Given the description of an element on the screen output the (x, y) to click on. 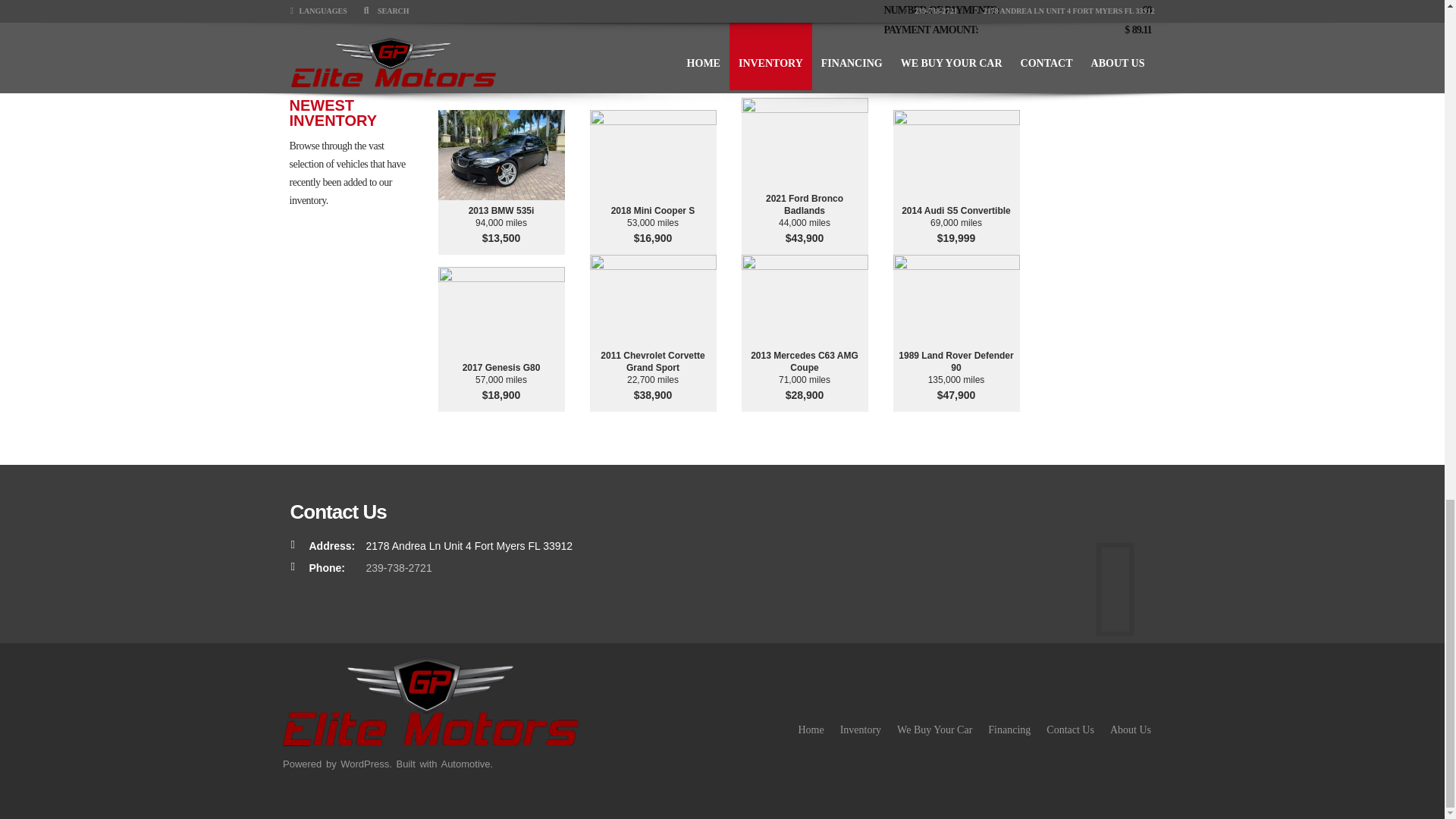
2013 Mercedes C63 AMG Coupe (803, 361)
2017 Genesis G80 (500, 367)
44,000 miles (803, 223)
2011 Chevrolet Corvette Grand Sport (651, 361)
135,000 miles (955, 379)
1989 Land Rover Defender 90 (955, 361)
71,000 miles (803, 379)
2021 Ford Bronco Badlands (803, 204)
NEWEST INVENTORY (358, 112)
94,000 miles (500, 223)
22,700 miles (651, 379)
2018 Mini Cooper S (651, 210)
53,000 miles (651, 223)
57,000 miles (500, 379)
2014 Audi S5 Convertible (955, 210)
